Given the description of an element on the screen output the (x, y) to click on. 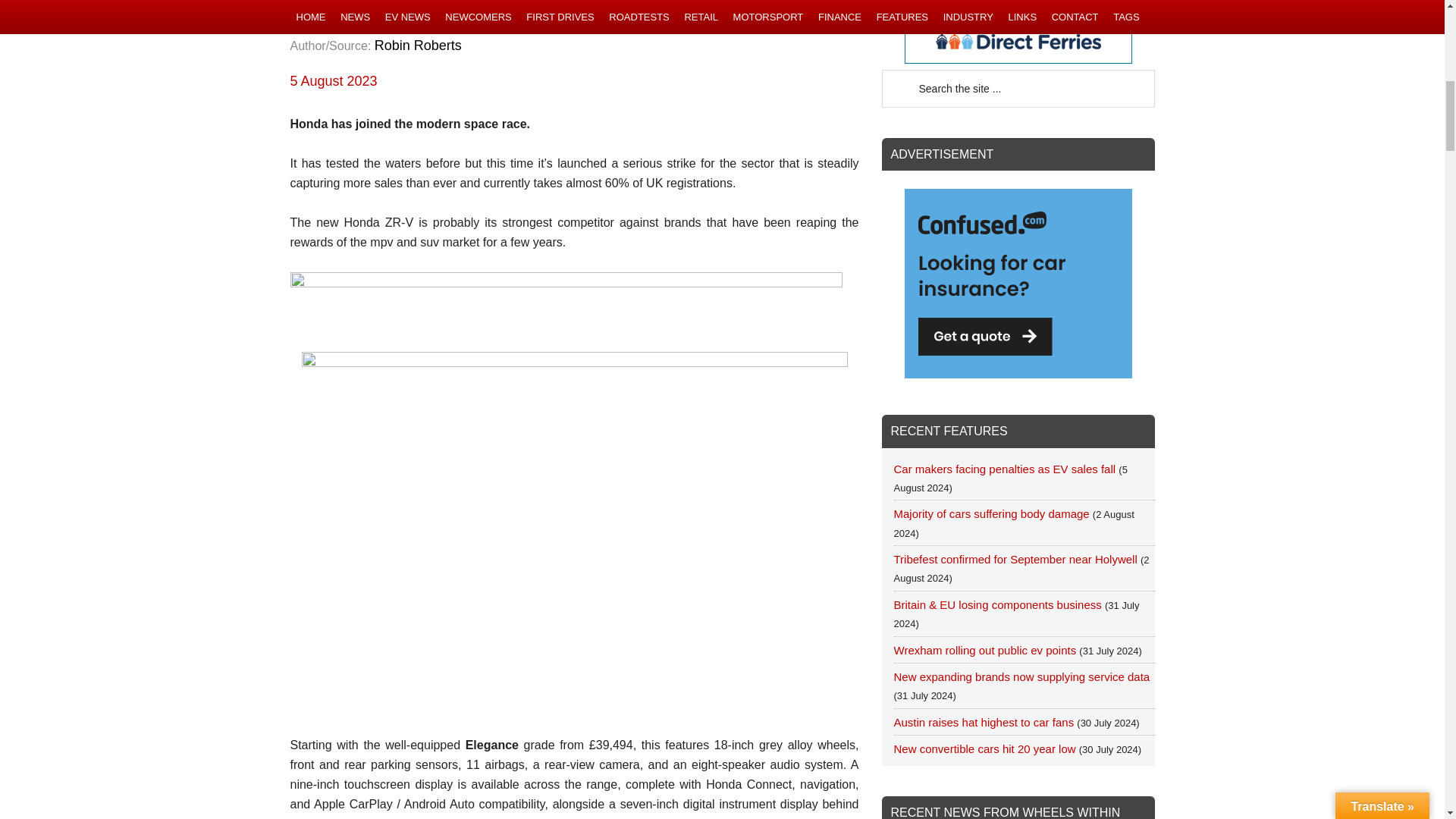
Permanent link to New convertible cars hit 20 year low (984, 748)
Permanent link to Majority of cars suffering body damage (991, 513)
Permanent link to Wrexham rolling out public ev points (984, 649)
Permanent link to Austin raises hat highest to car fans (983, 721)
